Given the description of an element on the screen output the (x, y) to click on. 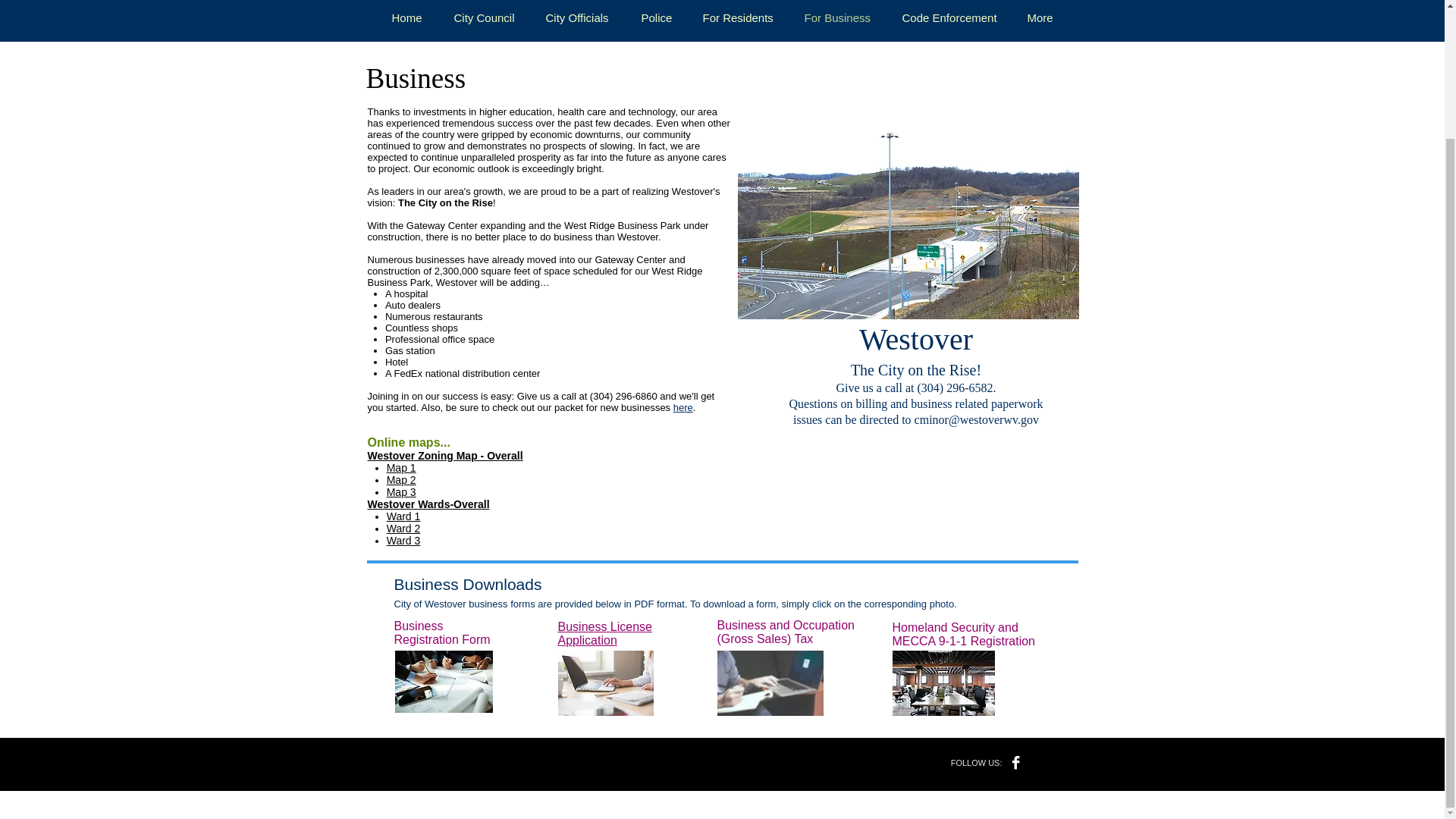
Construction Site 4 From Uni Town-web.jpg (907, 208)
Home (406, 17)
Ward 3 (403, 540)
City Council (483, 17)
Ward 1 (403, 516)
For Business (837, 17)
City Officials (576, 17)
Westover Wards-Overall (427, 503)
For Residents (738, 17)
Map 3 (401, 491)
here (682, 407)
Map 2 (401, 480)
Code Enforcement (947, 17)
Ward 2 (403, 528)
Police (654, 17)
